Given the description of an element on the screen output the (x, y) to click on. 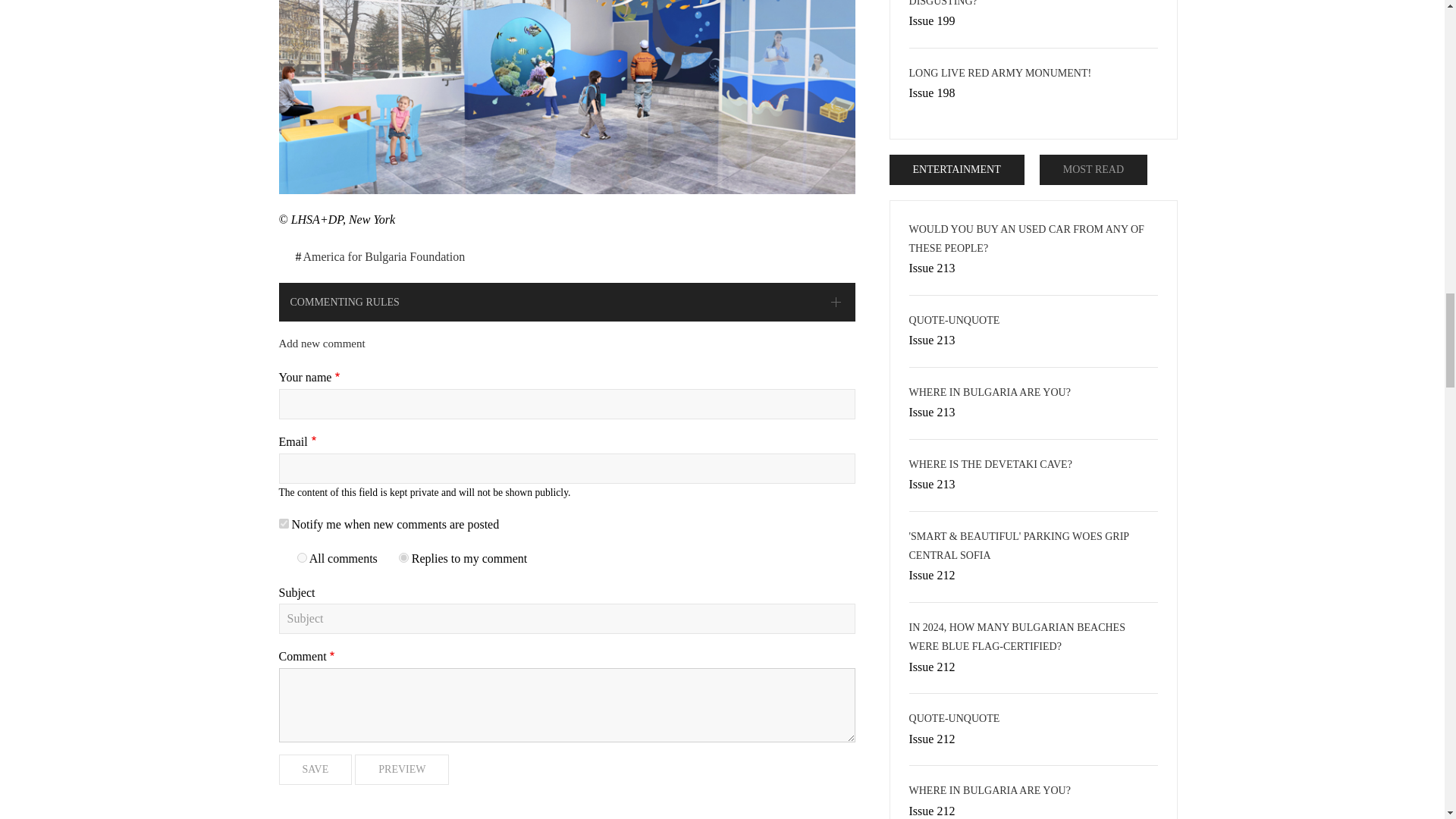
Save (315, 769)
1 (283, 523)
1 (302, 557)
2 (403, 557)
Preview (401, 769)
